Given the description of an element on the screen output the (x, y) to click on. 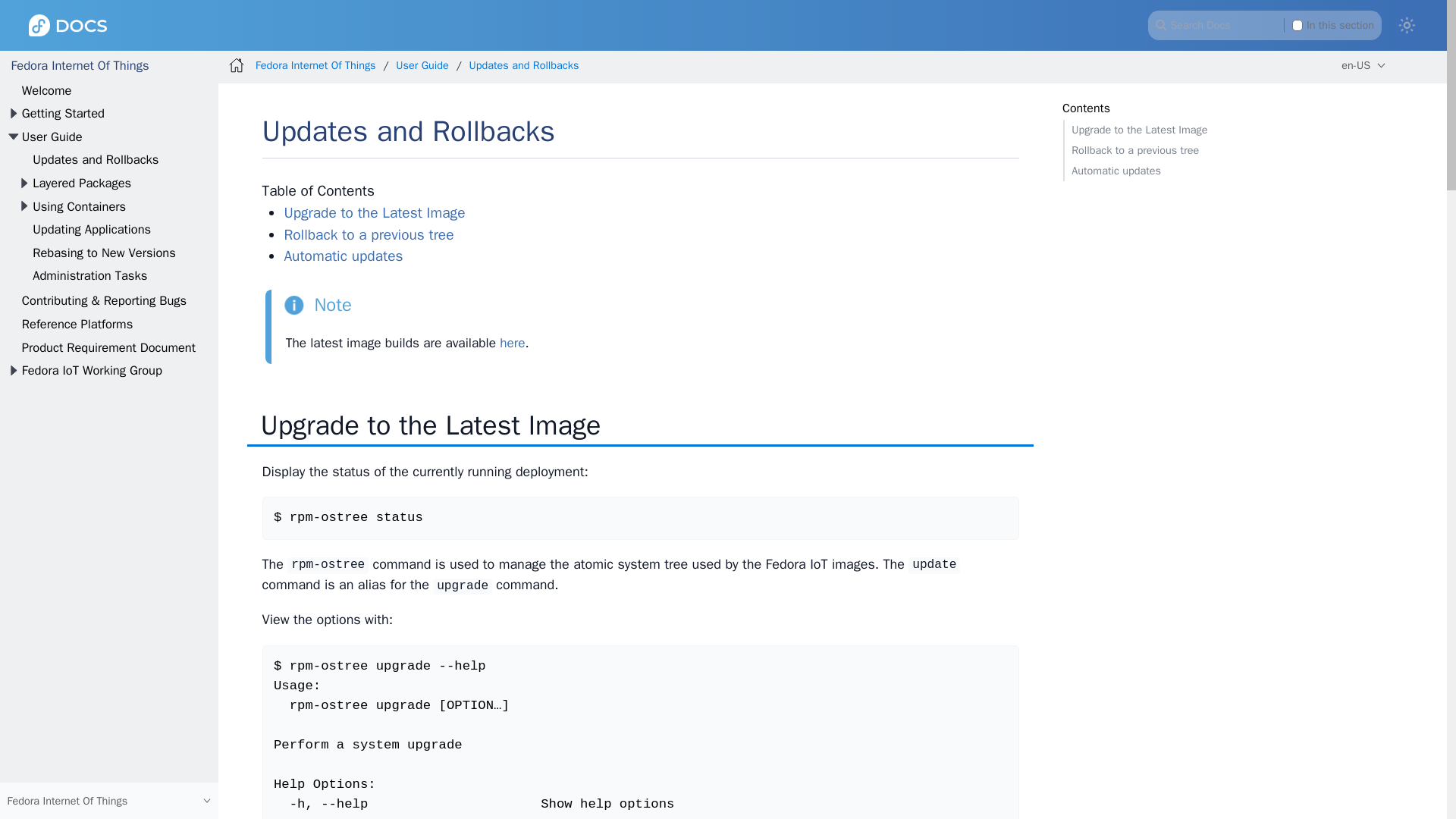
Administration Tasks (89, 275)
Show other languages of the site (1363, 65)
Fedora Internet Of Things (79, 65)
Rebasing to New Versions (104, 252)
Note (317, 305)
Getting Started (62, 113)
Using Containers (78, 206)
Updates and Rollbacks (95, 159)
Updating Applications (91, 229)
Welcome (46, 90)
Layered Packages (81, 182)
on (1297, 24)
User Guide (51, 136)
Reference Platforms (76, 324)
